Given the description of an element on the screen output the (x, y) to click on. 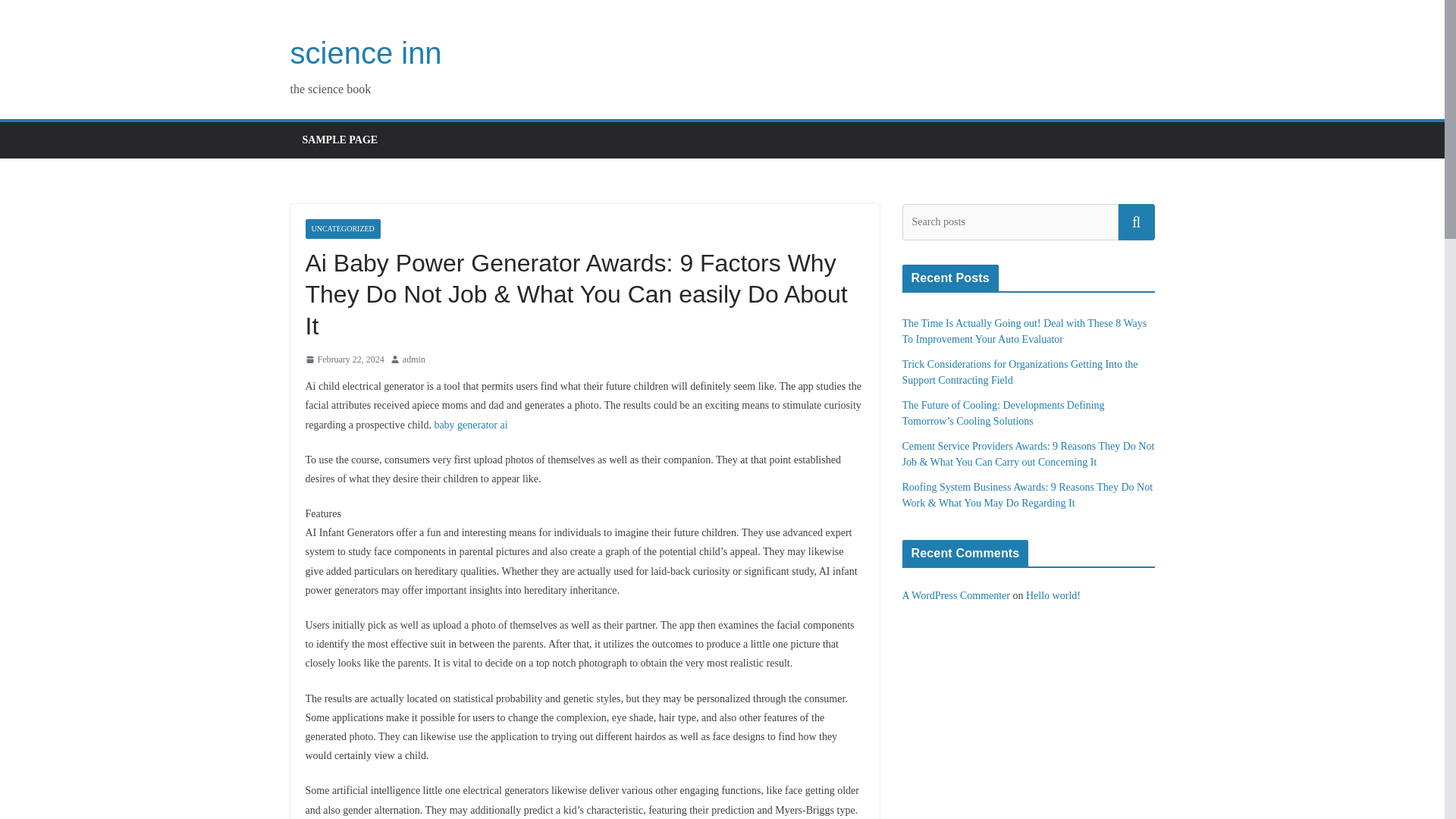
A WordPress Commenter (956, 595)
science inn (365, 52)
Search (1136, 221)
February 22, 2024 (344, 360)
science inn (365, 52)
UNCATEGORIZED (342, 229)
admin (414, 360)
admin (414, 360)
